Given the description of an element on the screen output the (x, y) to click on. 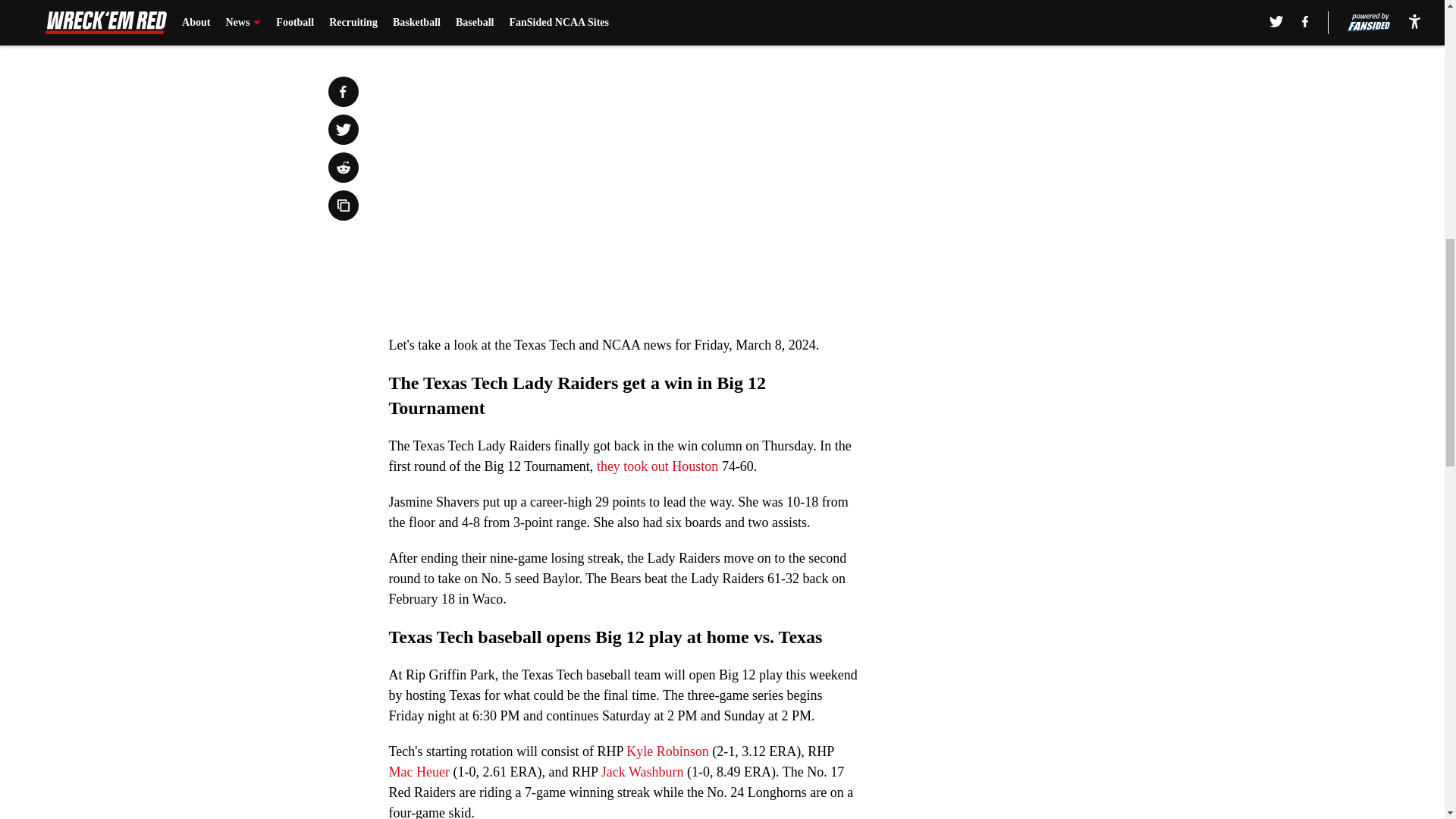
Jack Washburn (642, 771)
they took out Houston (654, 466)
Mac Heuer (418, 771)
Kyle Robinson (667, 751)
